Given the description of an element on the screen output the (x, y) to click on. 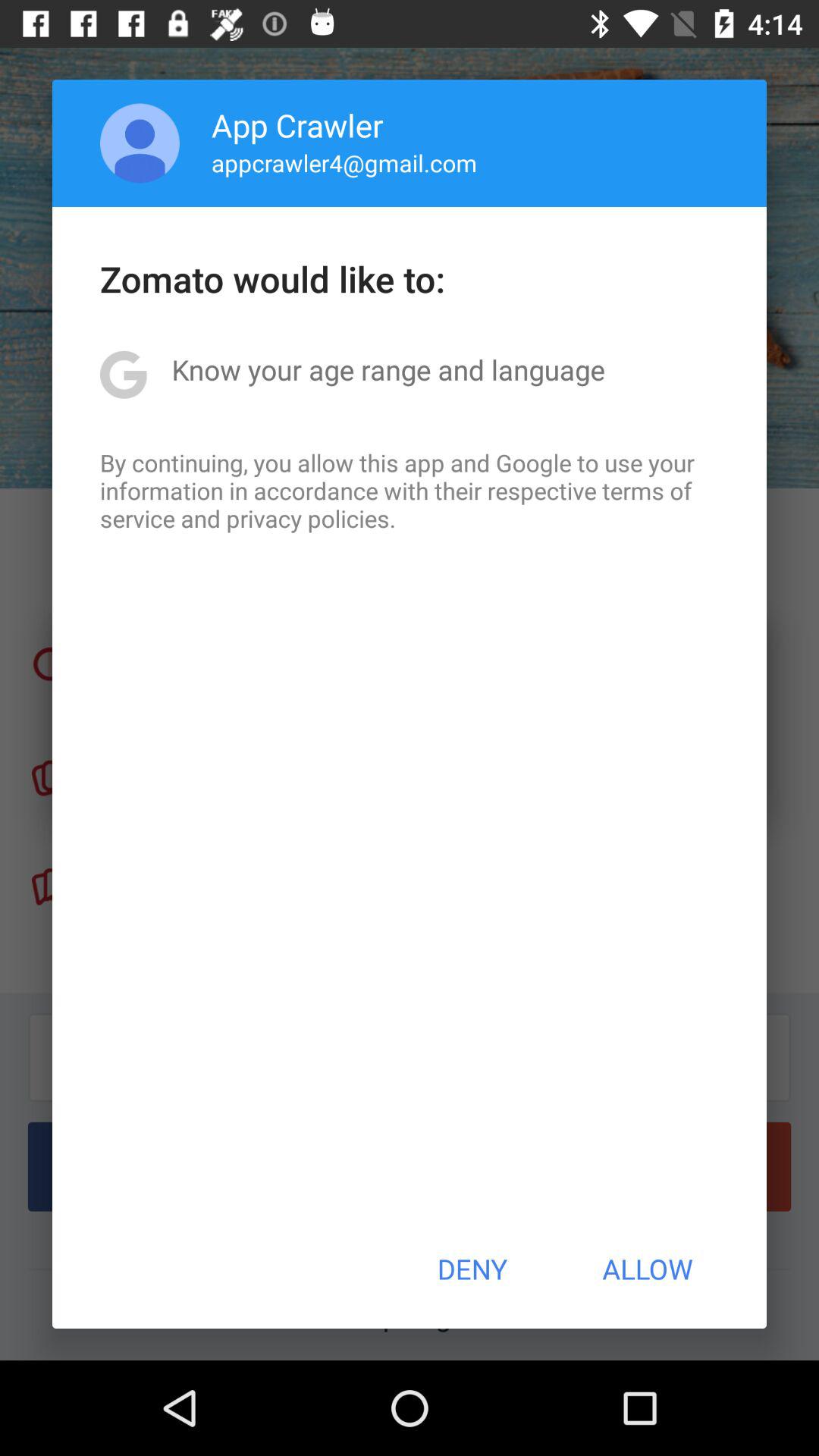
turn on the icon next to app crawler app (139, 143)
